Given the description of an element on the screen output the (x, y) to click on. 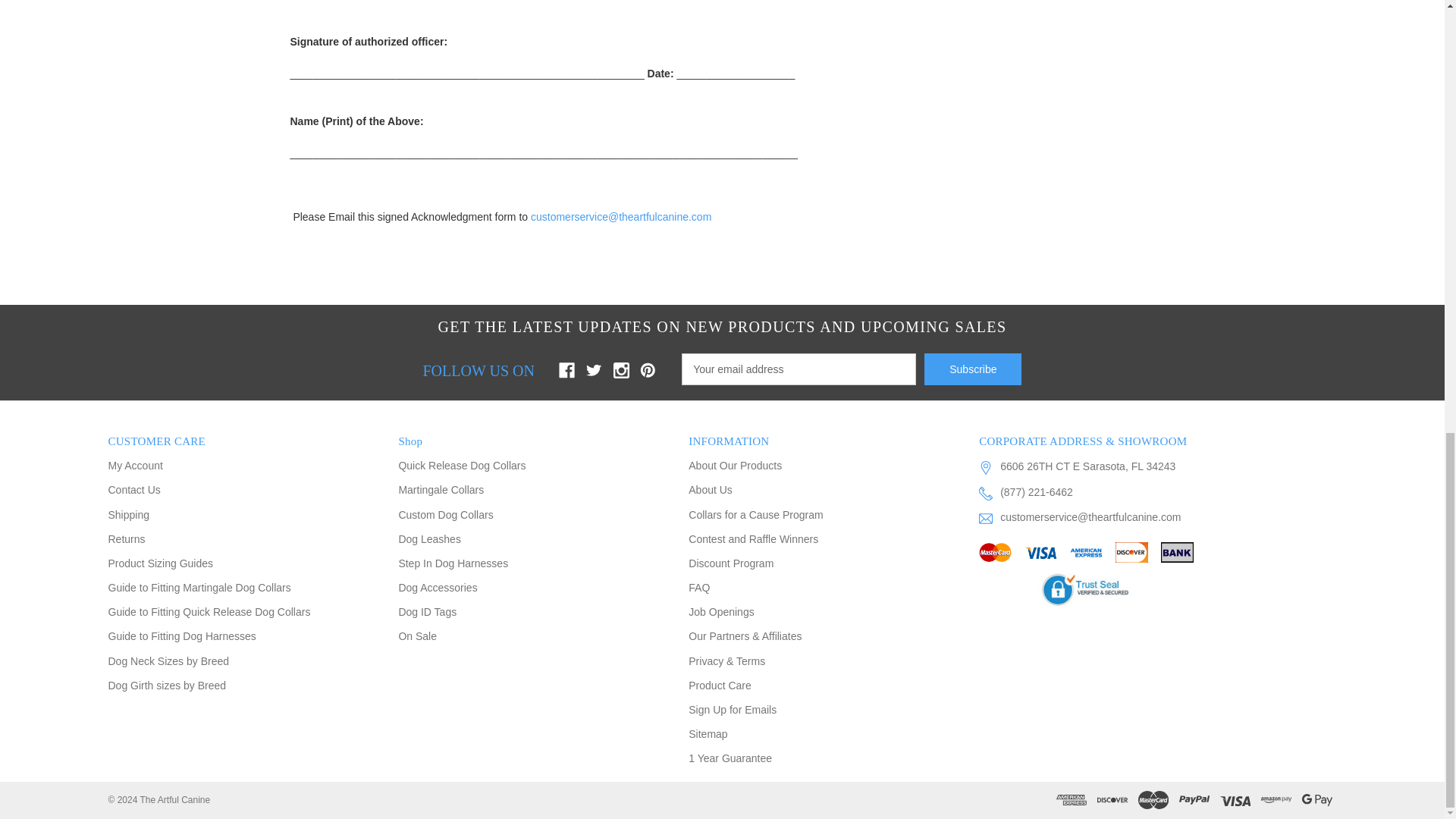
Subscribe (973, 368)
